Given the description of an element on the screen output the (x, y) to click on. 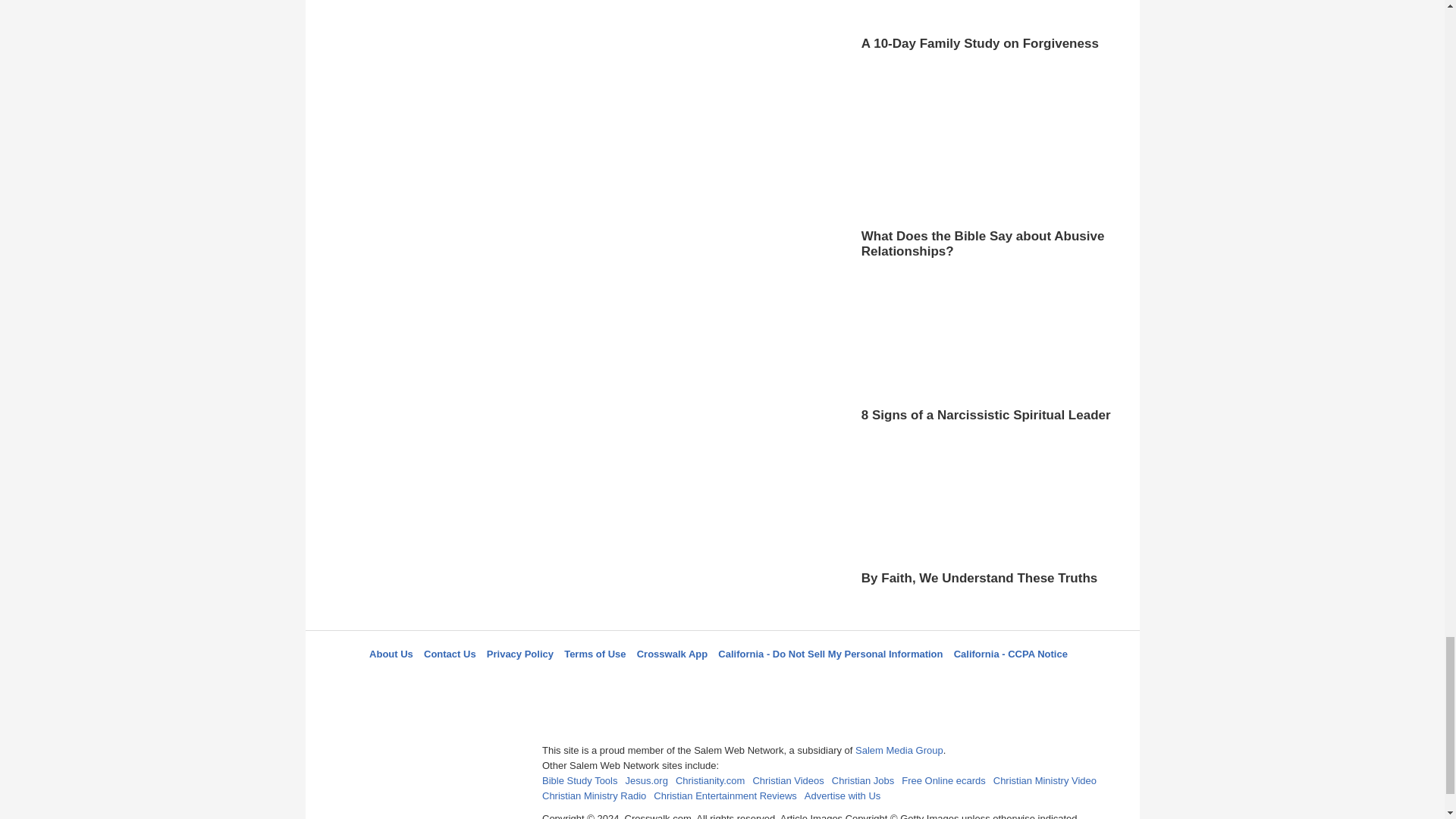
YouTube (795, 681)
Facebook (645, 681)
LifeAudio (719, 681)
Pinterest (757, 681)
Twitter (683, 681)
